Given the description of an element on the screen output the (x, y) to click on. 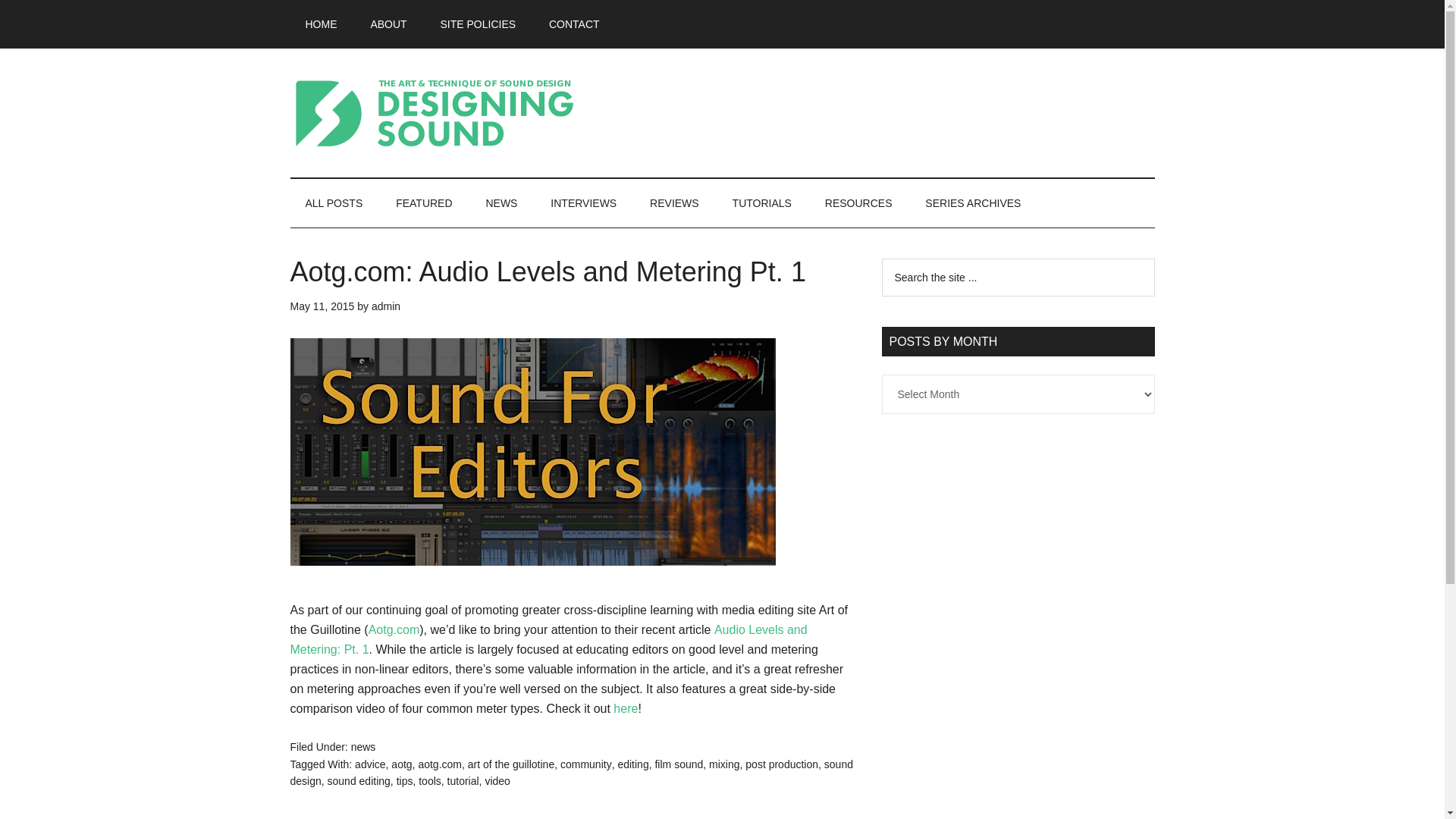
SITE POLICIES (478, 24)
CONTACT (574, 24)
REVIEWS (674, 203)
advice (370, 764)
film sound (678, 764)
news (362, 746)
editing (632, 764)
community (585, 764)
mixing (724, 764)
ALL POSTS (333, 203)
aotg.com (439, 764)
Aotg.com (394, 629)
art of the guillotine (510, 764)
sound design (570, 772)
